Given the description of an element on the screen output the (x, y) to click on. 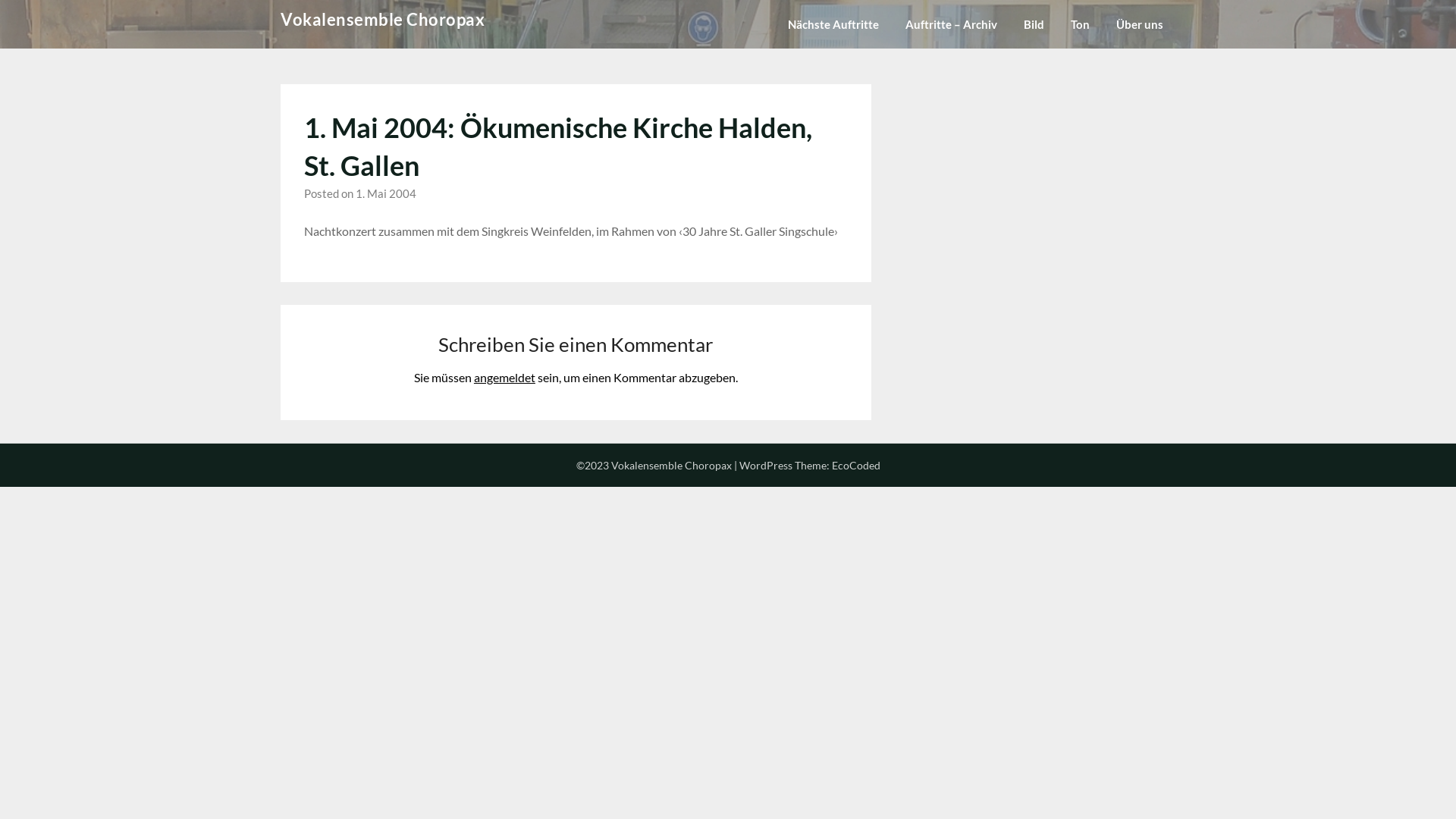
EcoCoded Element type: text (855, 464)
Vokalensemble Choropax Element type: text (382, 19)
Bild Element type: text (1033, 24)
angemeldet Element type: text (504, 377)
Ton Element type: text (1079, 24)
